Given the description of an element on the screen output the (x, y) to click on. 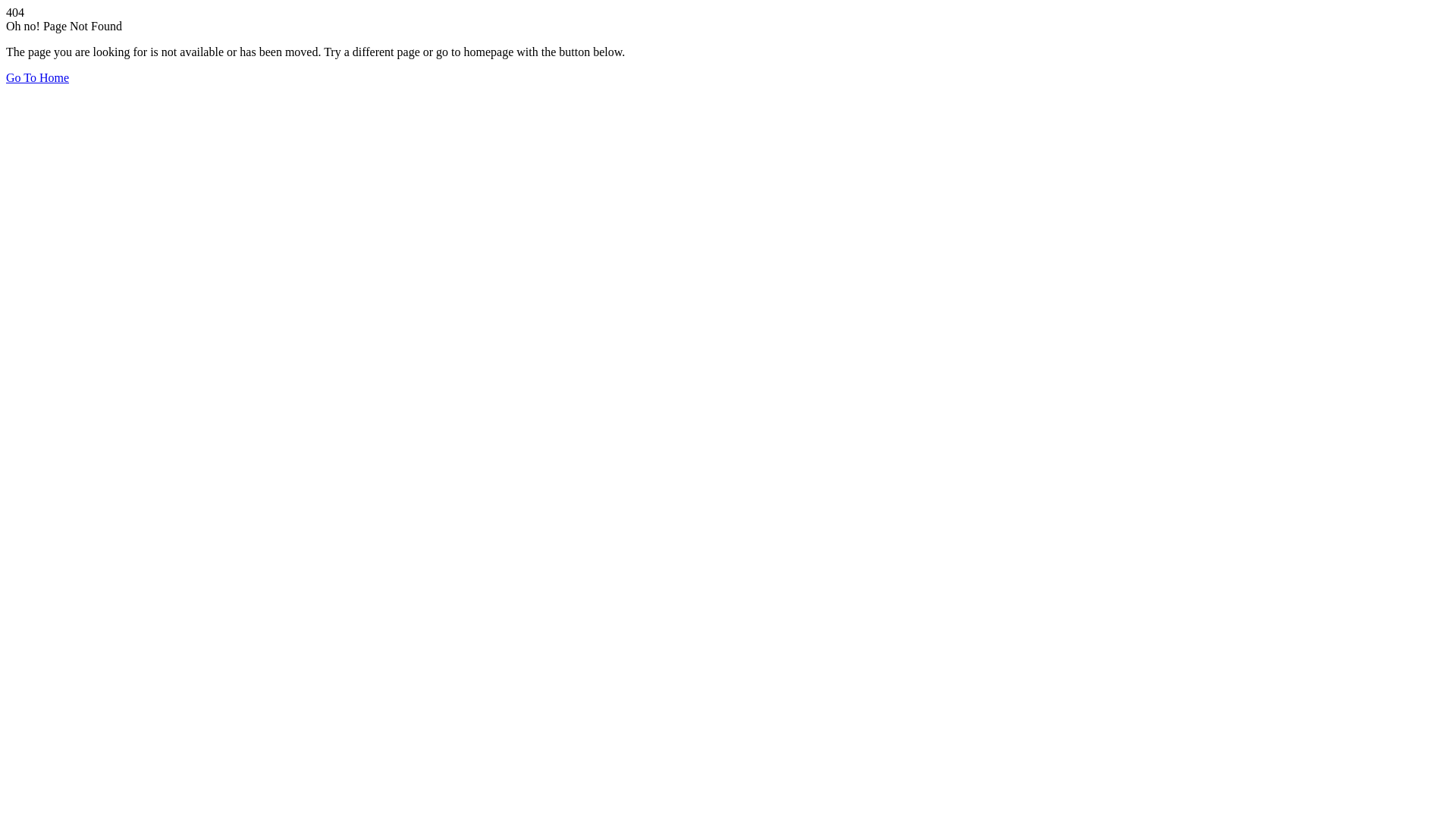
Go To Home Element type: text (37, 77)
